Given the description of an element on the screen output the (x, y) to click on. 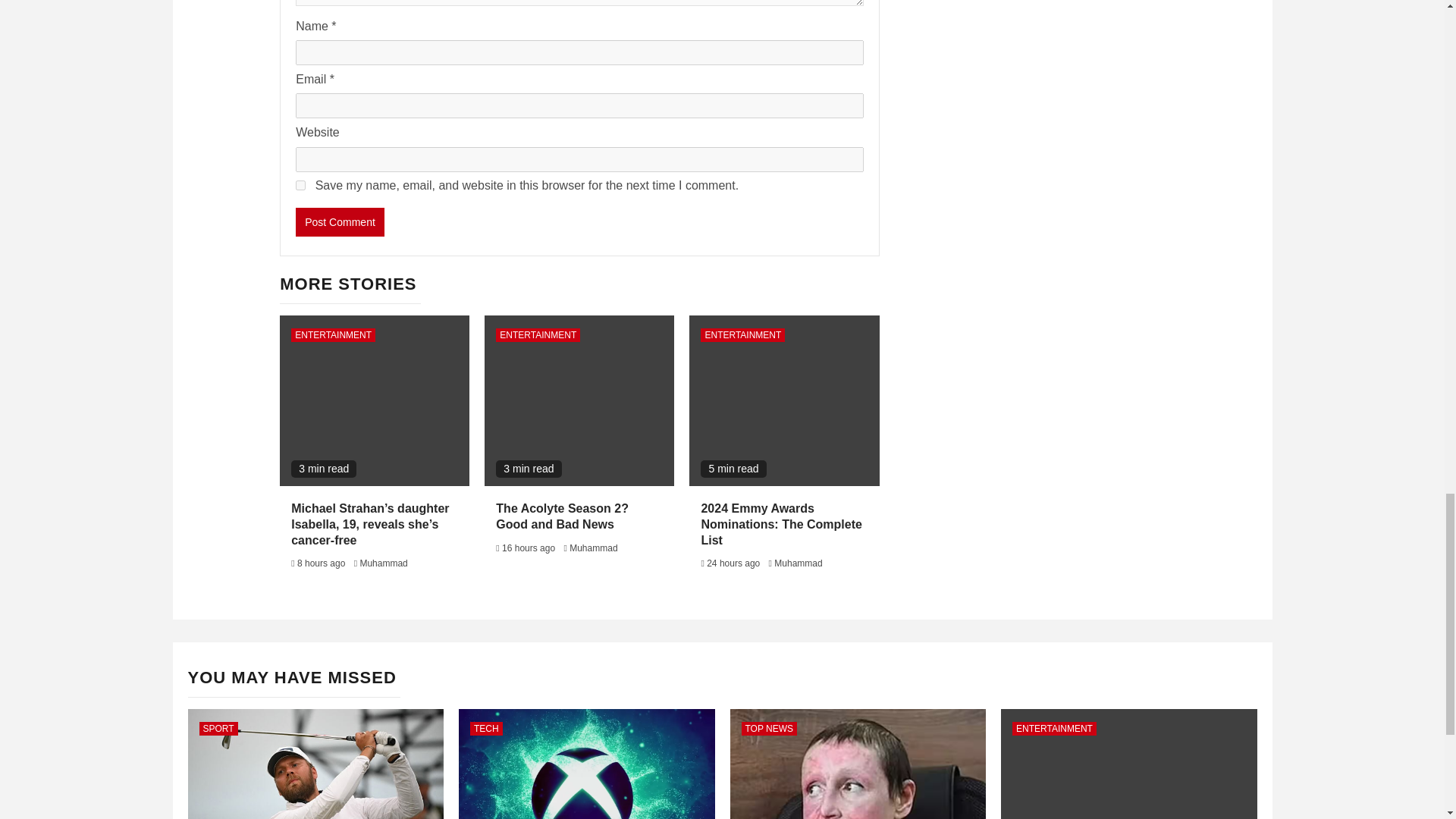
Muhammad (798, 562)
ENTERTAINMENT (742, 335)
yes (300, 185)
Muhammad (593, 547)
Post Comment (339, 222)
Muhammad (383, 562)
Post Comment (339, 222)
The Acolyte Season 2? Good and Bad News (562, 516)
2024 Emmy Awards Nominations: The Complete List (780, 524)
ENTERTAINMENT (333, 335)
ENTERTAINMENT (537, 335)
